Given the description of an element on the screen output the (x, y) to click on. 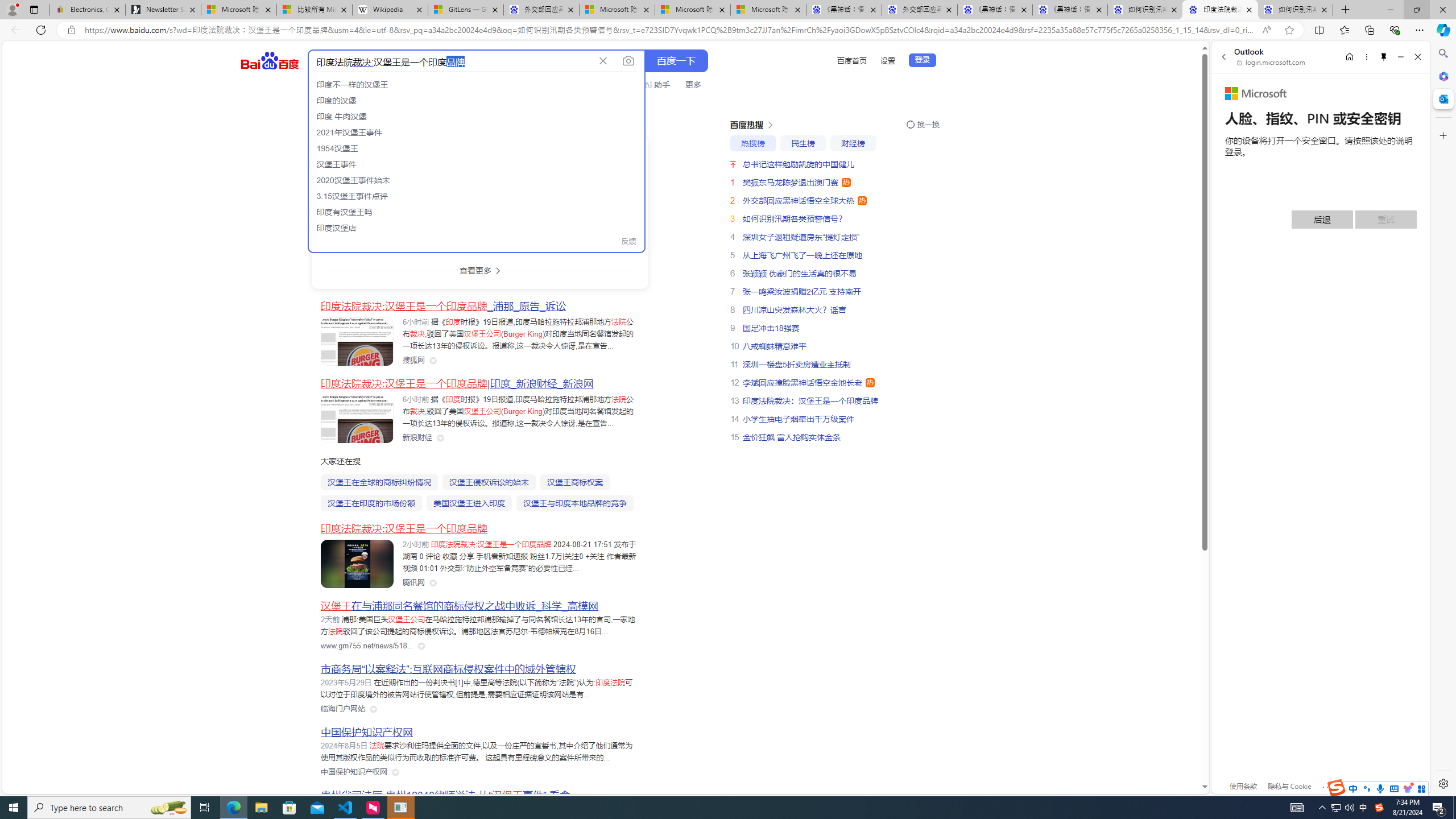
Newsletter Sign Up (162, 9)
Class: c-img c-img-radius-large (356, 168)
Class: siteLink_9TPP3 (353, 772)
